Given the description of an element on the screen output the (x, y) to click on. 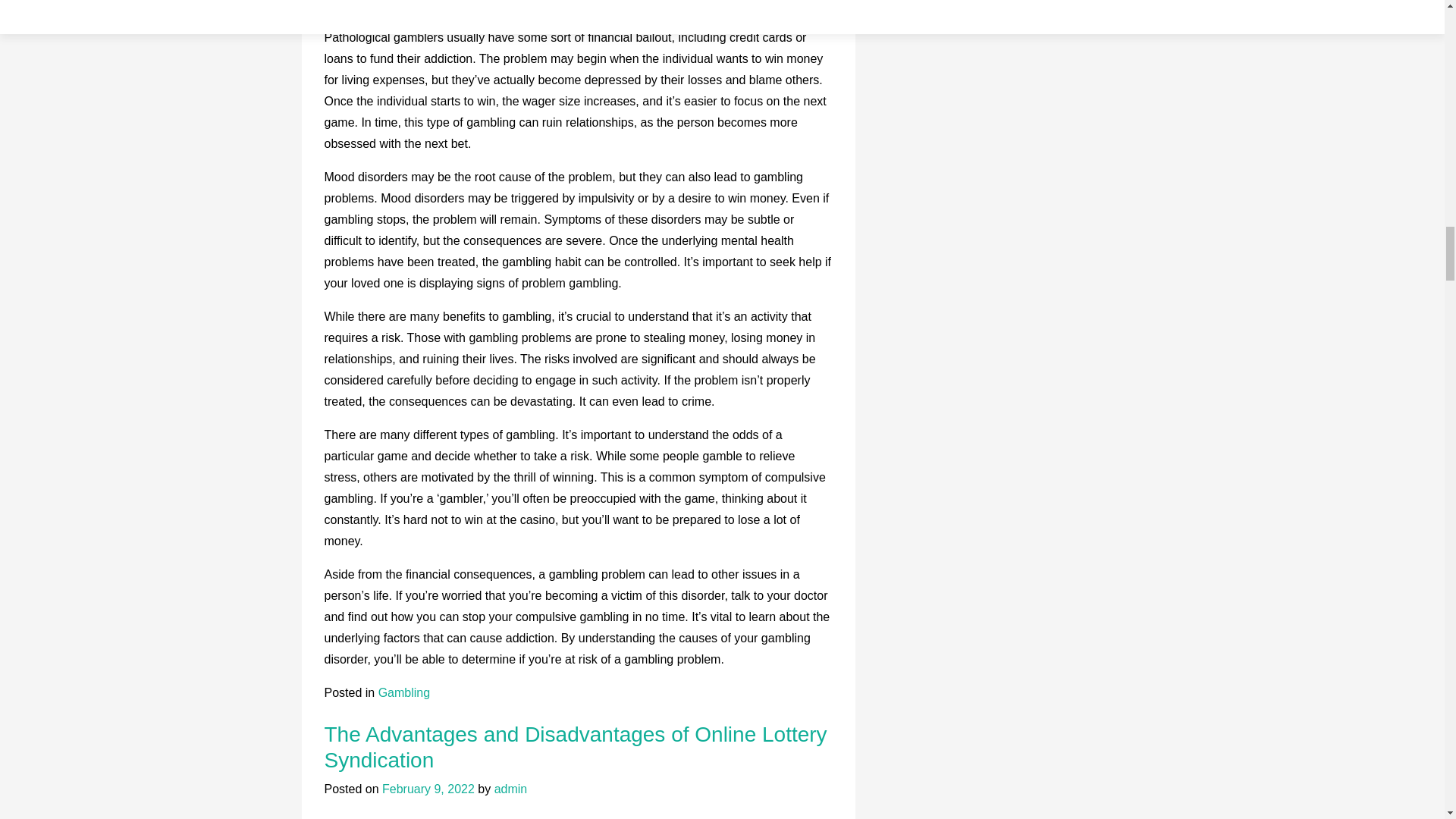
February 9, 2022 (427, 788)
Gambling (403, 692)
admin (511, 788)
